Given the description of an element on the screen output the (x, y) to click on. 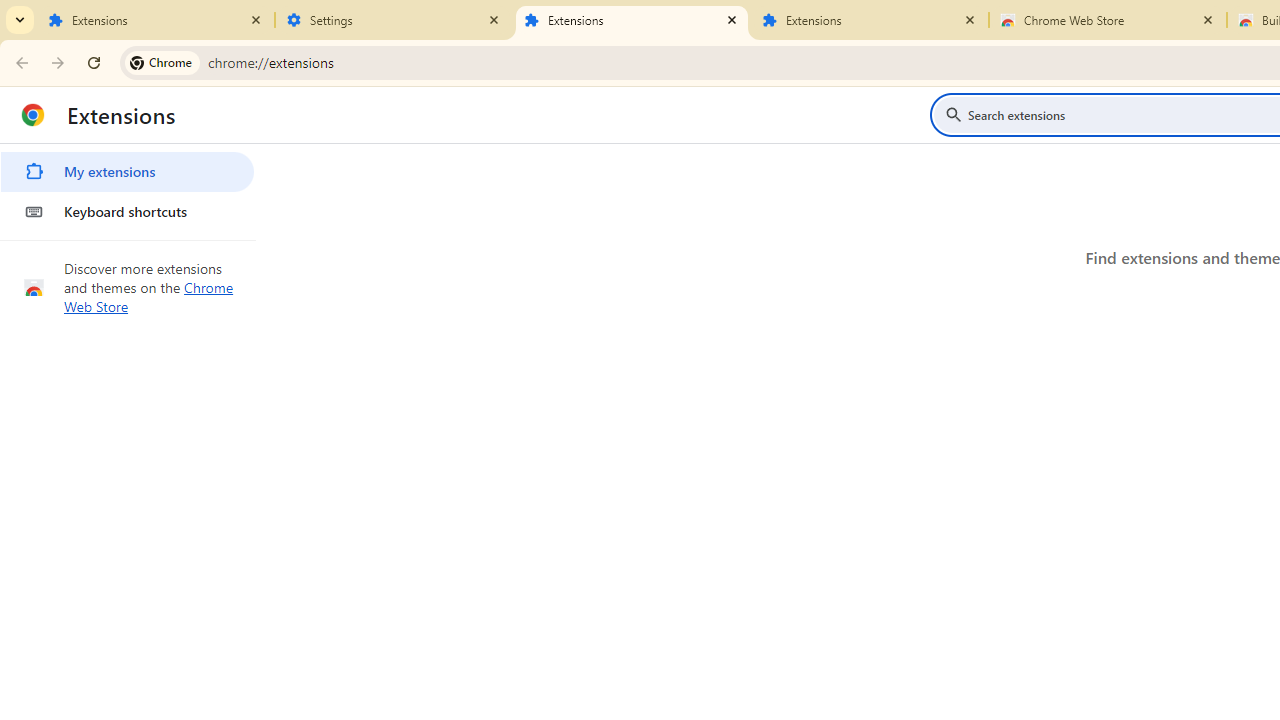
Chrome Web Store (1108, 20)
My extensions (127, 171)
Keyboard shortcuts (127, 211)
